Given the description of an element on the screen output the (x, y) to click on. 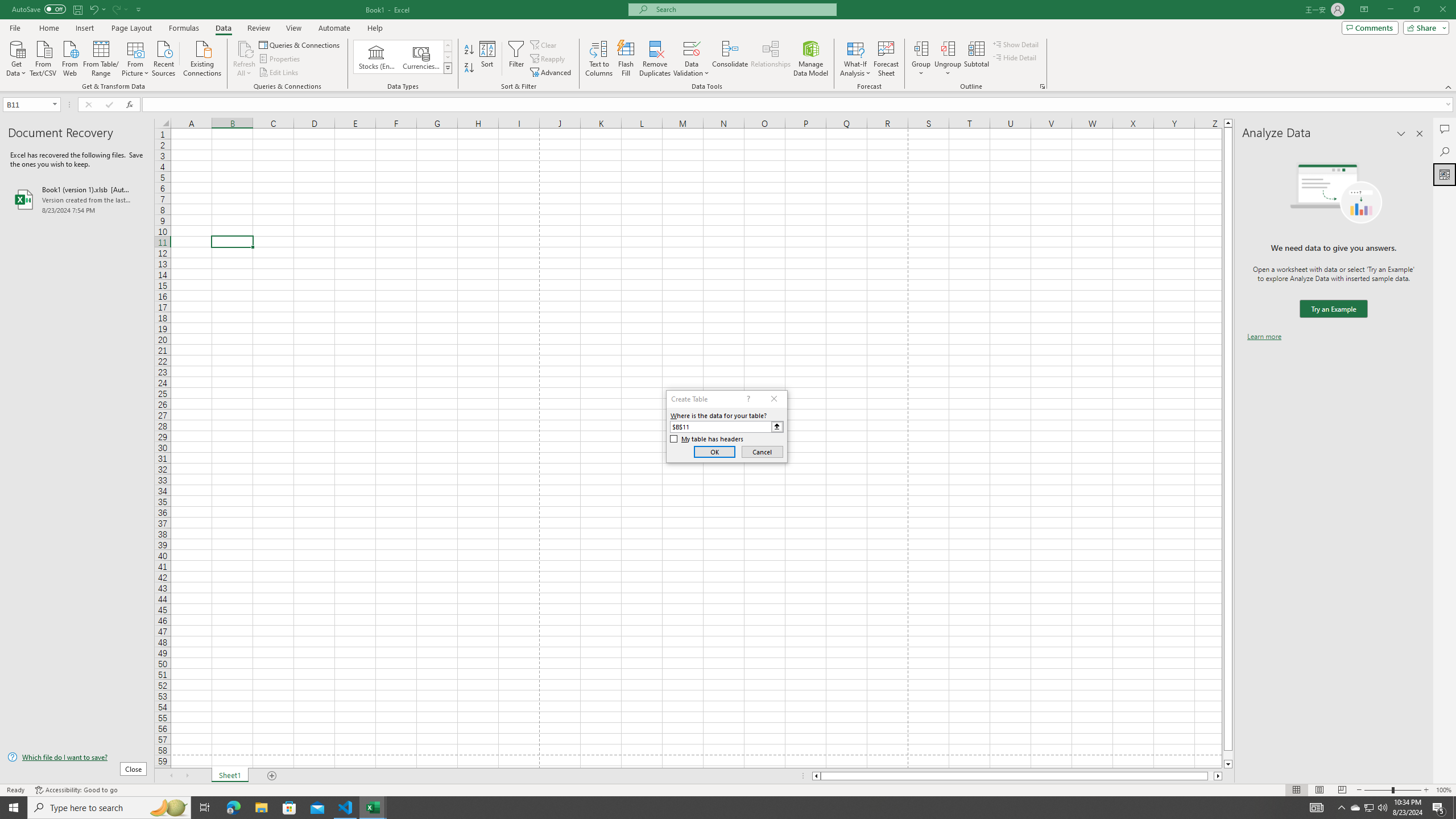
Column right (1218, 775)
